Given the description of an element on the screen output the (x, y) to click on. 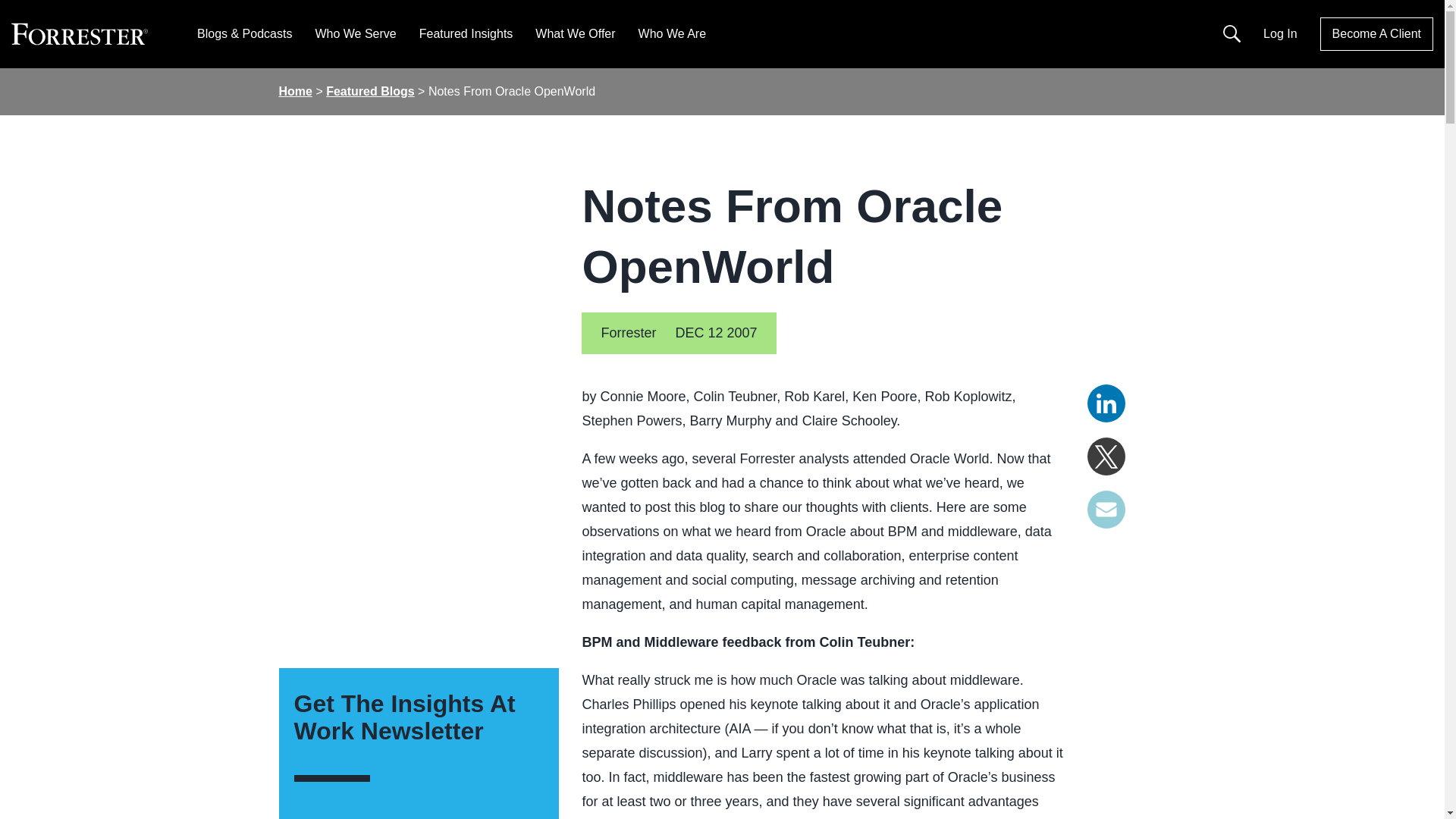
Who We Serve (355, 33)
What We Offer (574, 33)
Featured Insights (466, 33)
